Given the description of an element on the screen output the (x, y) to click on. 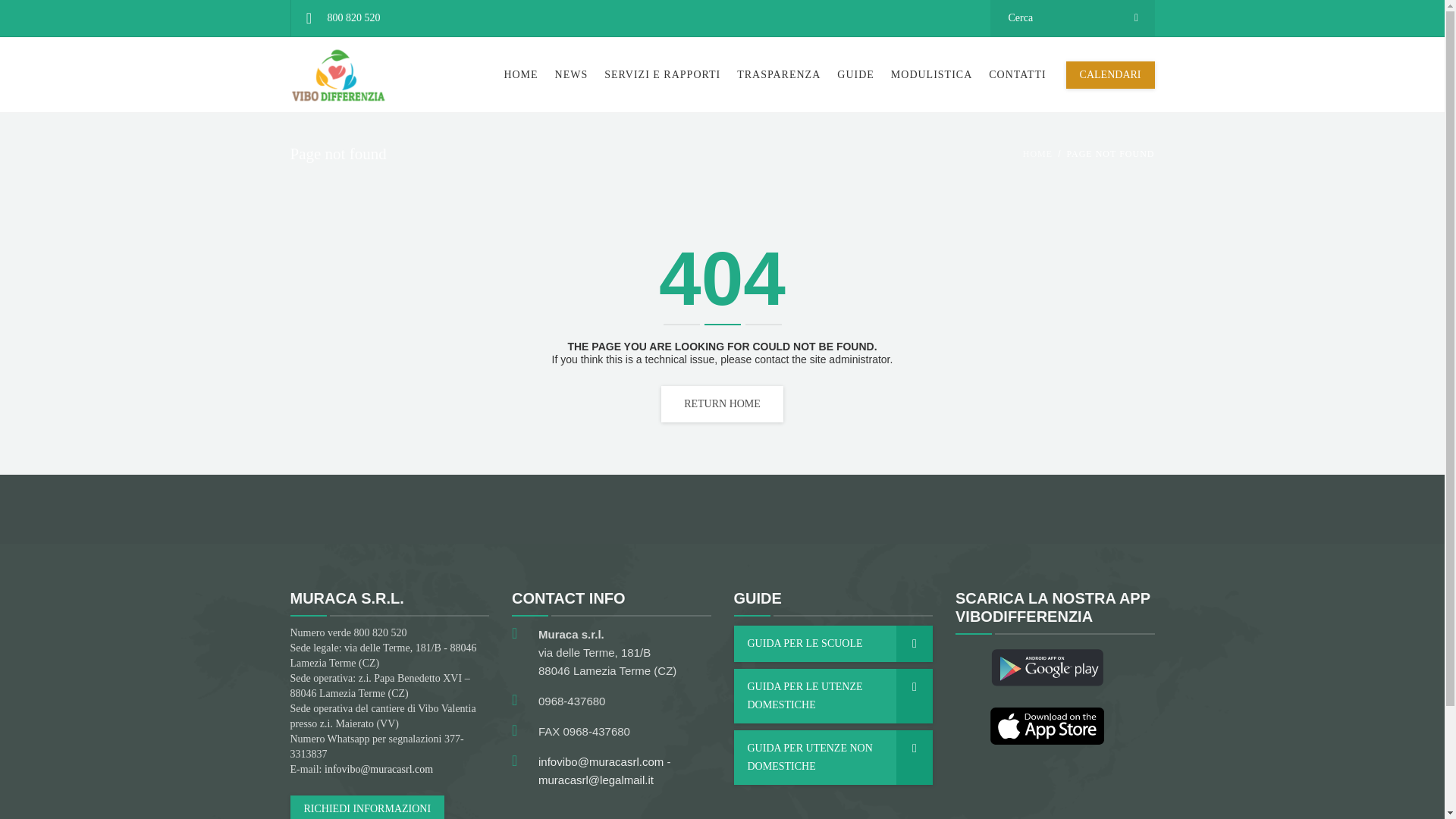
SERVIZI E RAPPORTI (662, 74)
TRASPARENZA (778, 74)
GUIDA PER LE UTENZE DOMESTICHE (833, 696)
CONTATTI (1016, 74)
RETURN HOME (722, 403)
CALENDARI (1109, 74)
GUIDA PER UTENZE NON DOMESTICHE (833, 757)
800 820 520 (341, 18)
MODULISTICA (930, 74)
GUIDA PER LE SCUOLE (833, 643)
RICHIEDI INFORMAZIONI (366, 807)
